Given the description of an element on the screen output the (x, y) to click on. 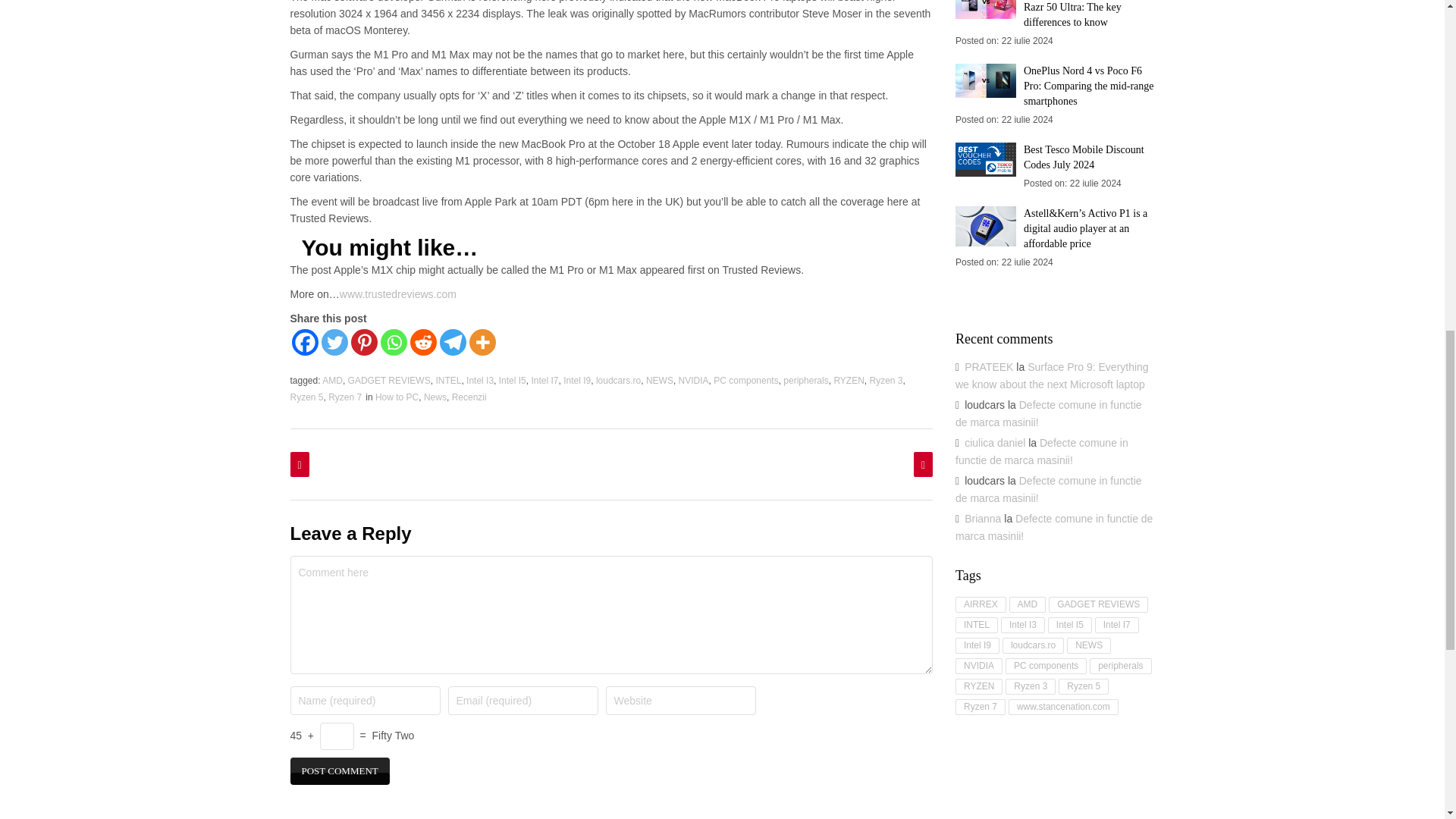
Post comment (338, 770)
